Given the description of an element on the screen output the (x, y) to click on. 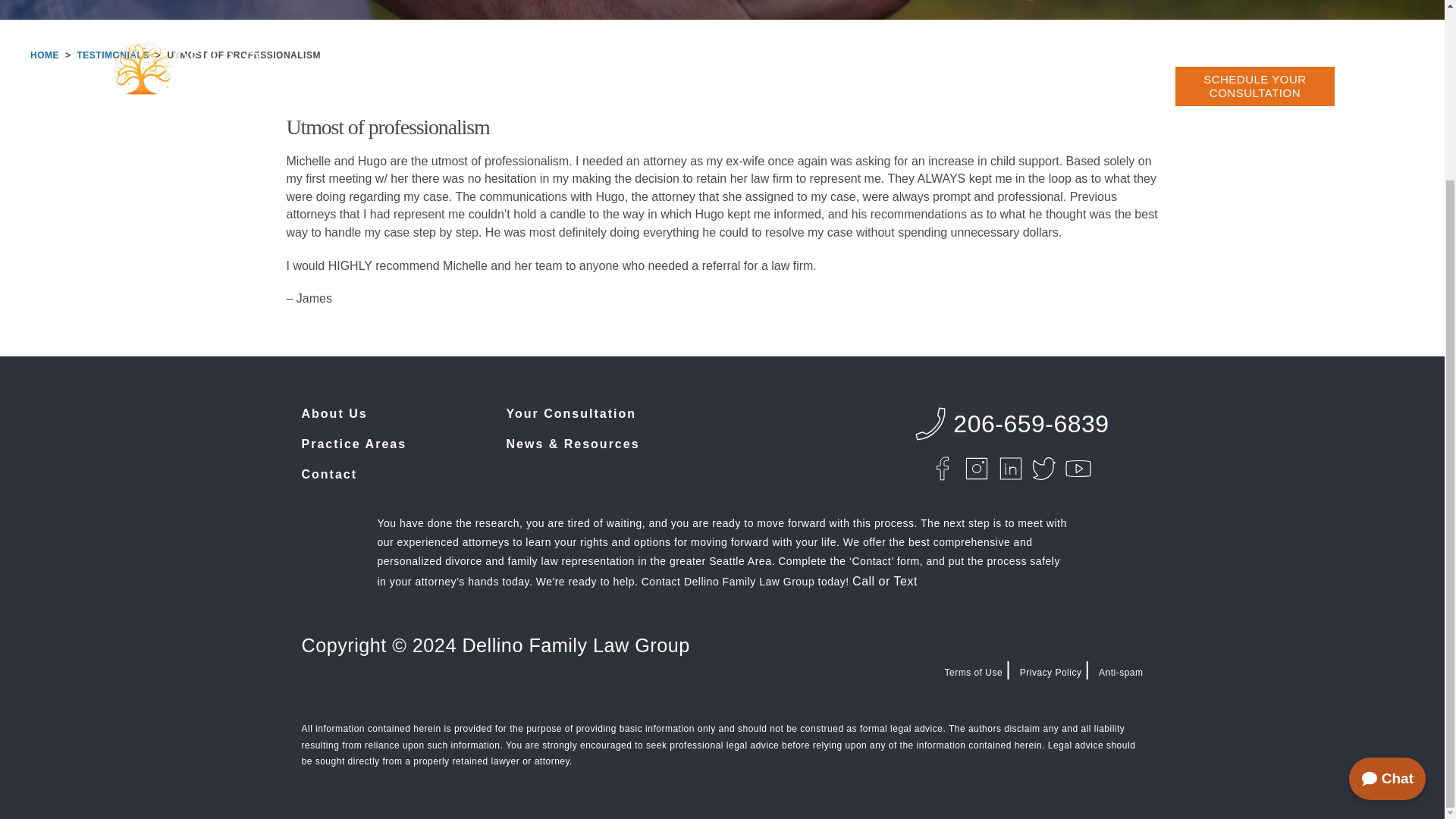
Your Consultation (571, 413)
Home (44, 54)
Practice Areas (354, 443)
206-659-6839 (1009, 423)
About Us (334, 413)
Testimonials (113, 54)
TESTIMONIALS (113, 54)
HOME (44, 54)
Utmost of professionalism (243, 55)
Contact (329, 473)
